Given the description of an element on the screen output the (x, y) to click on. 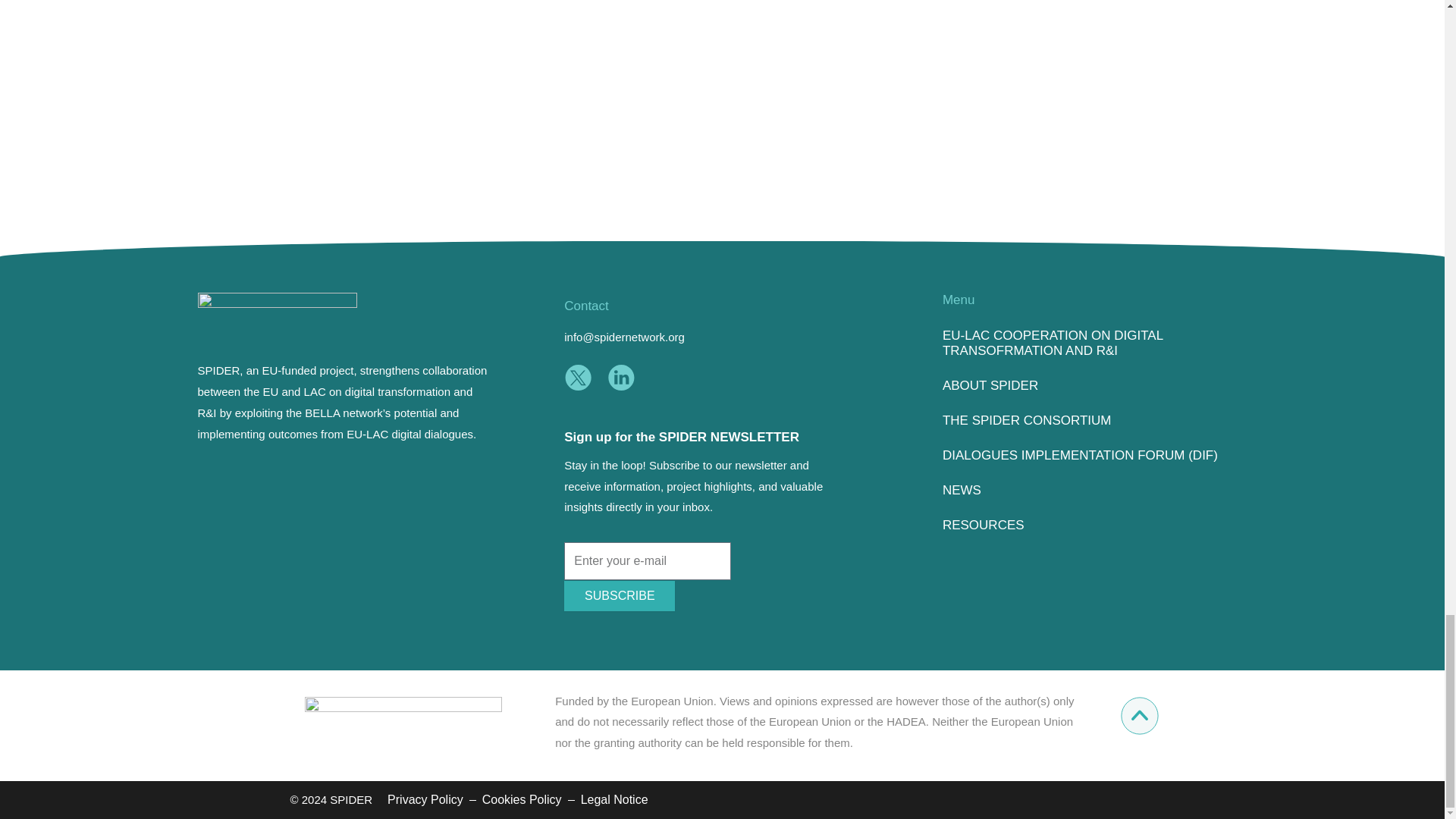
SUBSCRIBE (619, 595)
THE SPIDER CONSORTIUM (1094, 420)
ABOUT SPIDER (1094, 385)
